Given the description of an element on the screen output the (x, y) to click on. 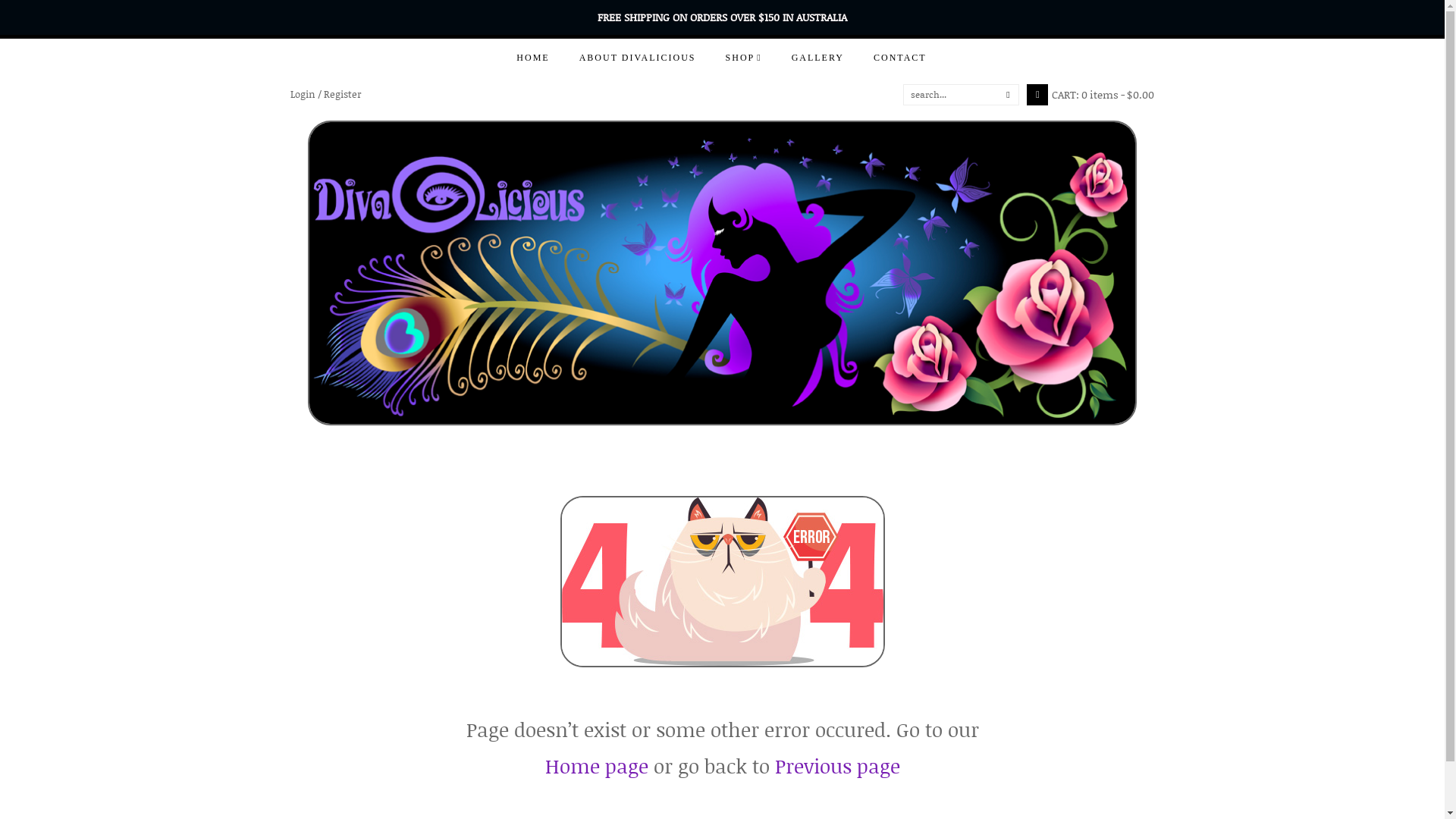
CONTACT Element type: text (899, 57)
FREE SHIPPING ON ORDERS OVER $150 IN AUSTRALIA Element type: text (722, 17)
HOME Element type: text (532, 57)
CART:
0
items
$0.00 Element type: text (1090, 94)
GALLERY Element type: text (817, 57)
ABOUT DIVALICIOUS Element type: text (637, 57)
Previous page Element type: text (837, 765)
Login / Register Element type: text (324, 94)
SHOP Element type: text (743, 57)
Home page Element type: text (595, 765)
Search Element type: hover (950, 94)
